Given the description of an element on the screen output the (x, y) to click on. 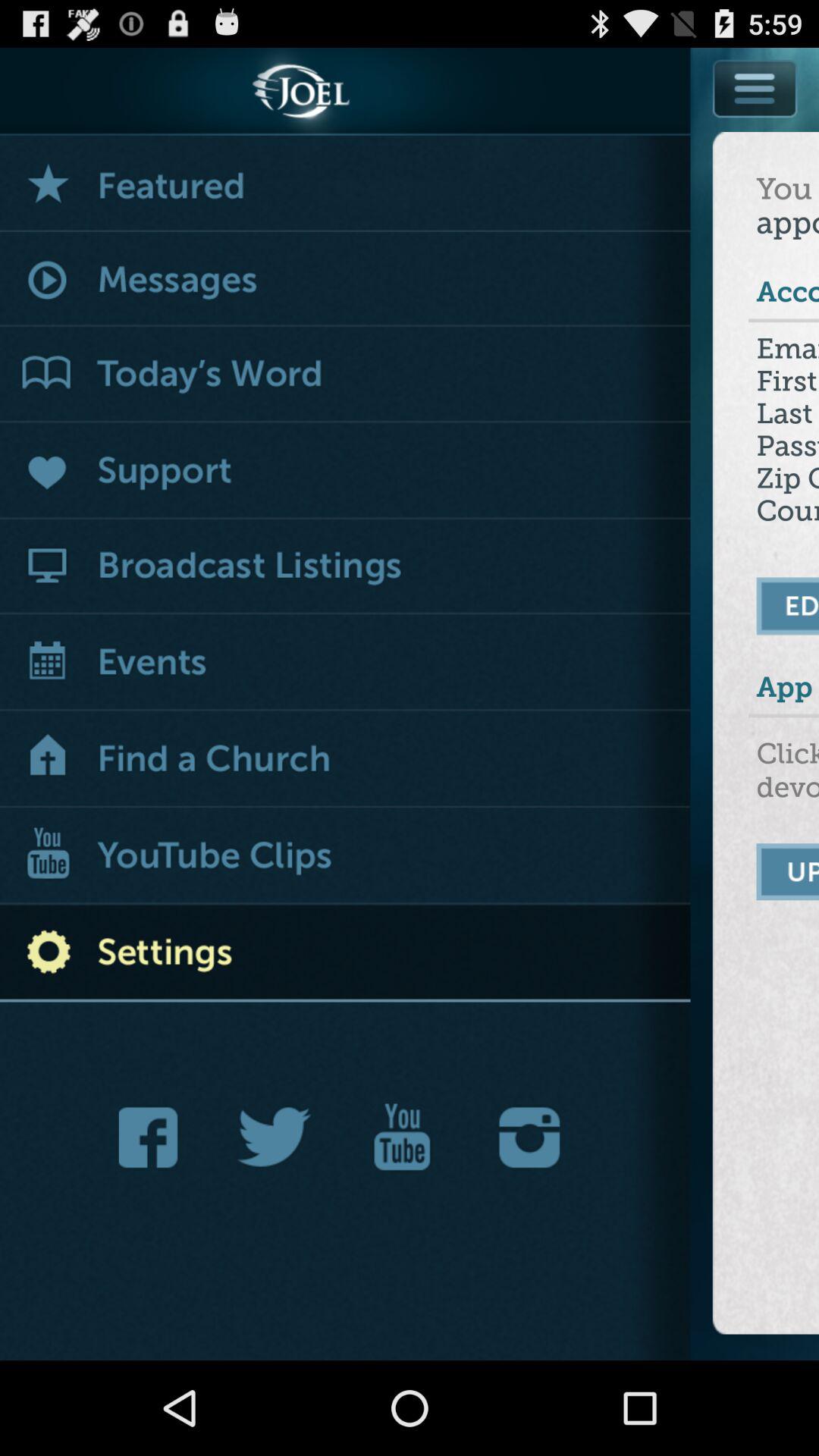
open sidebar (755, 88)
